Given the description of an element on the screen output the (x, y) to click on. 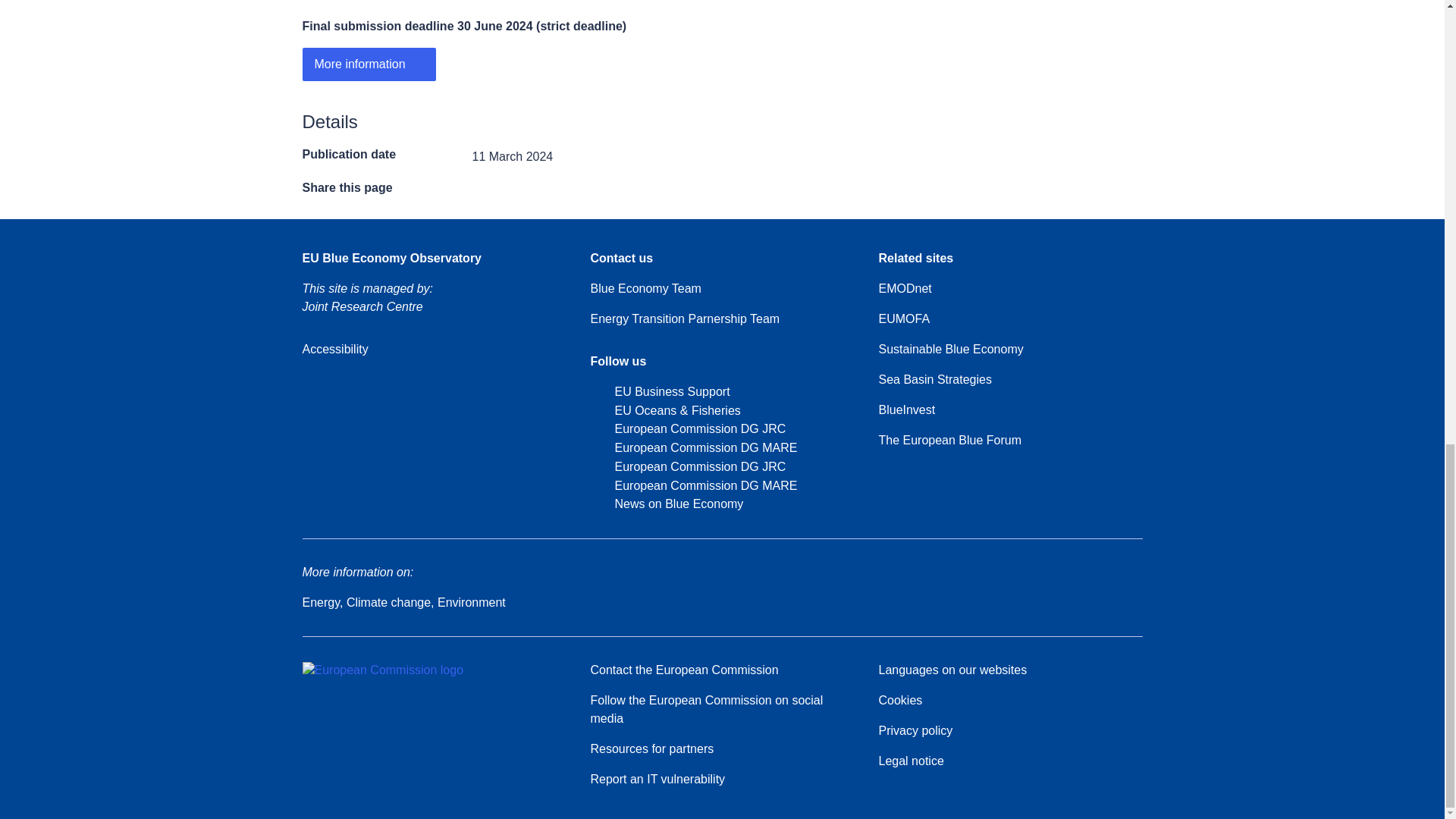
European Commission DG MARE (692, 486)
Report an IT vulnerability (657, 779)
Energy, Climate change, Environment (403, 602)
EU Business Support (659, 392)
More information (368, 64)
EU Blue Economy Observatory (391, 258)
Blue Economy Team (644, 289)
Accessibility (334, 349)
European Commission DG MARE (692, 447)
European Commission DG JRC (687, 466)
